Given the description of an element on the screen output the (x, y) to click on. 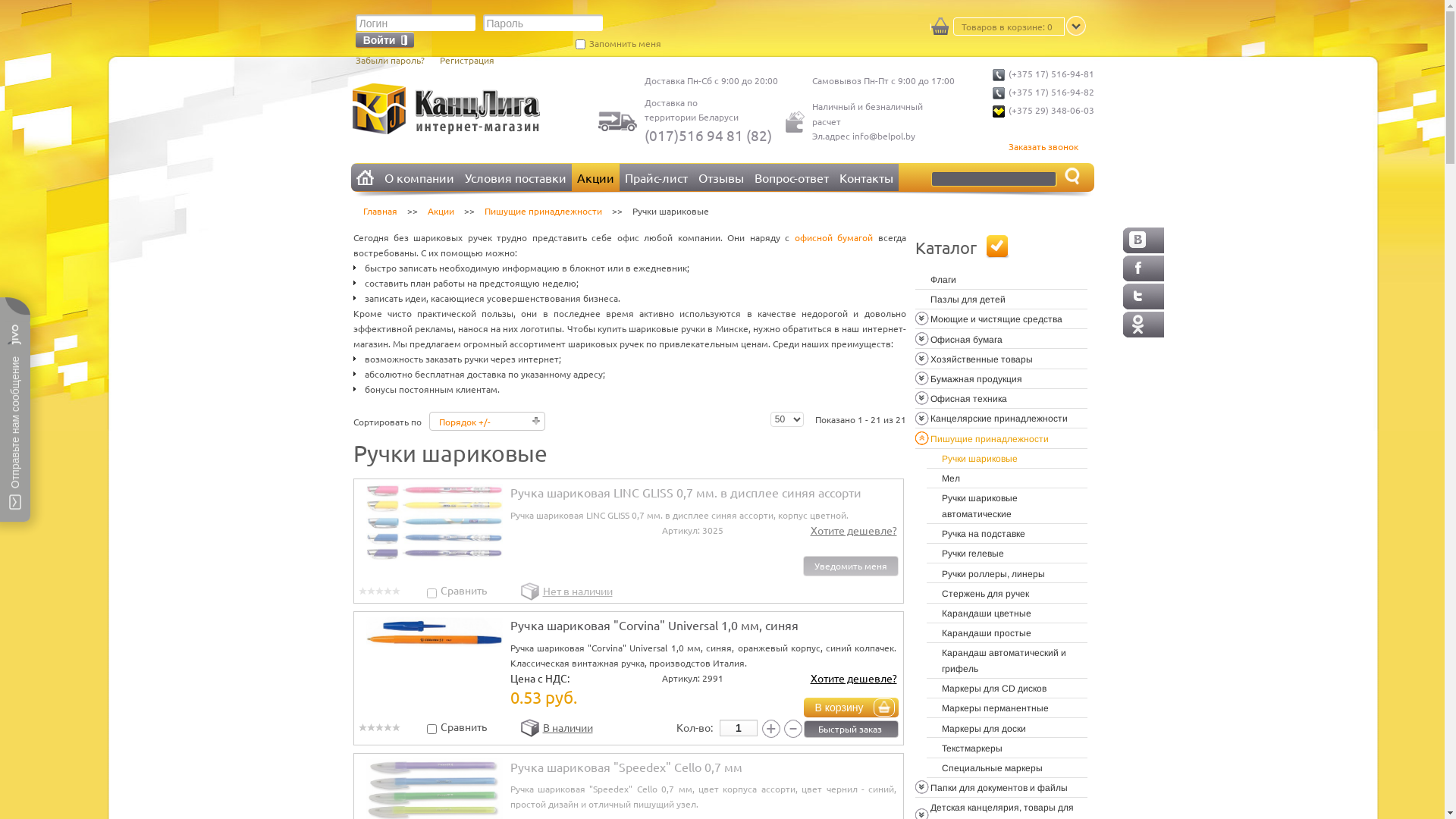
face Element type: text (1142, 268)
Vk Element type: text (1142, 240)
tw Element type: text (1142, 296)
ok Element type: text (1142, 324)
